Given the description of an element on the screen output the (x, y) to click on. 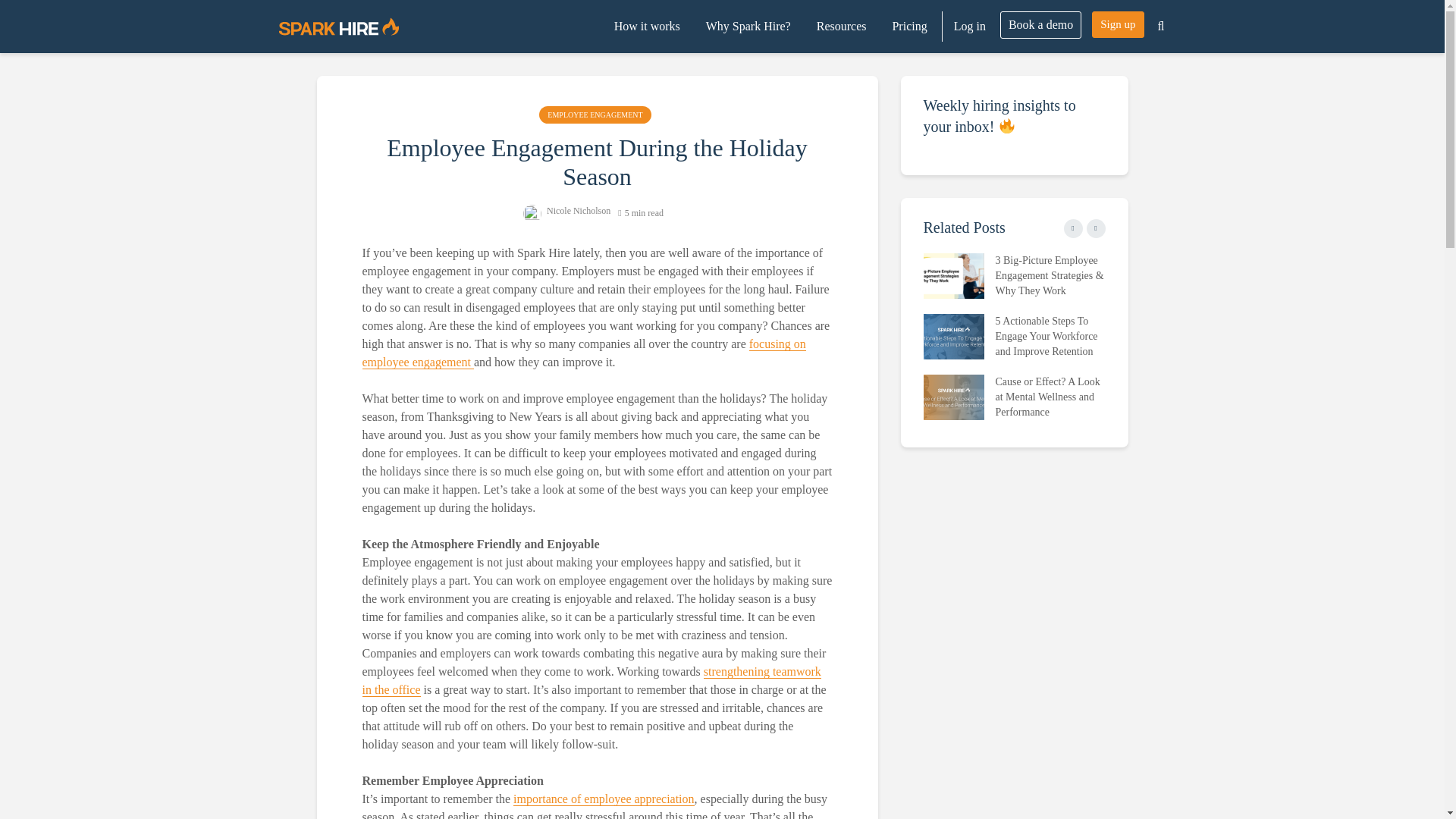
5 Painless Methods for Better Employee Engagement (584, 353)
Why Spark Hire? (748, 26)
How it works (646, 26)
Sign up (1117, 24)
Cause or Effect? A Look at Mental Wellness and Performance (953, 396)
Team Building Your Way to Better Employee Engagement (591, 680)
EMPLOYEE ENGAGEMENT (594, 114)
Log in (969, 26)
How Recognition Programs Attract Top Talent (1135, 396)
Book a demo (1041, 24)
